Given the description of an element on the screen output the (x, y) to click on. 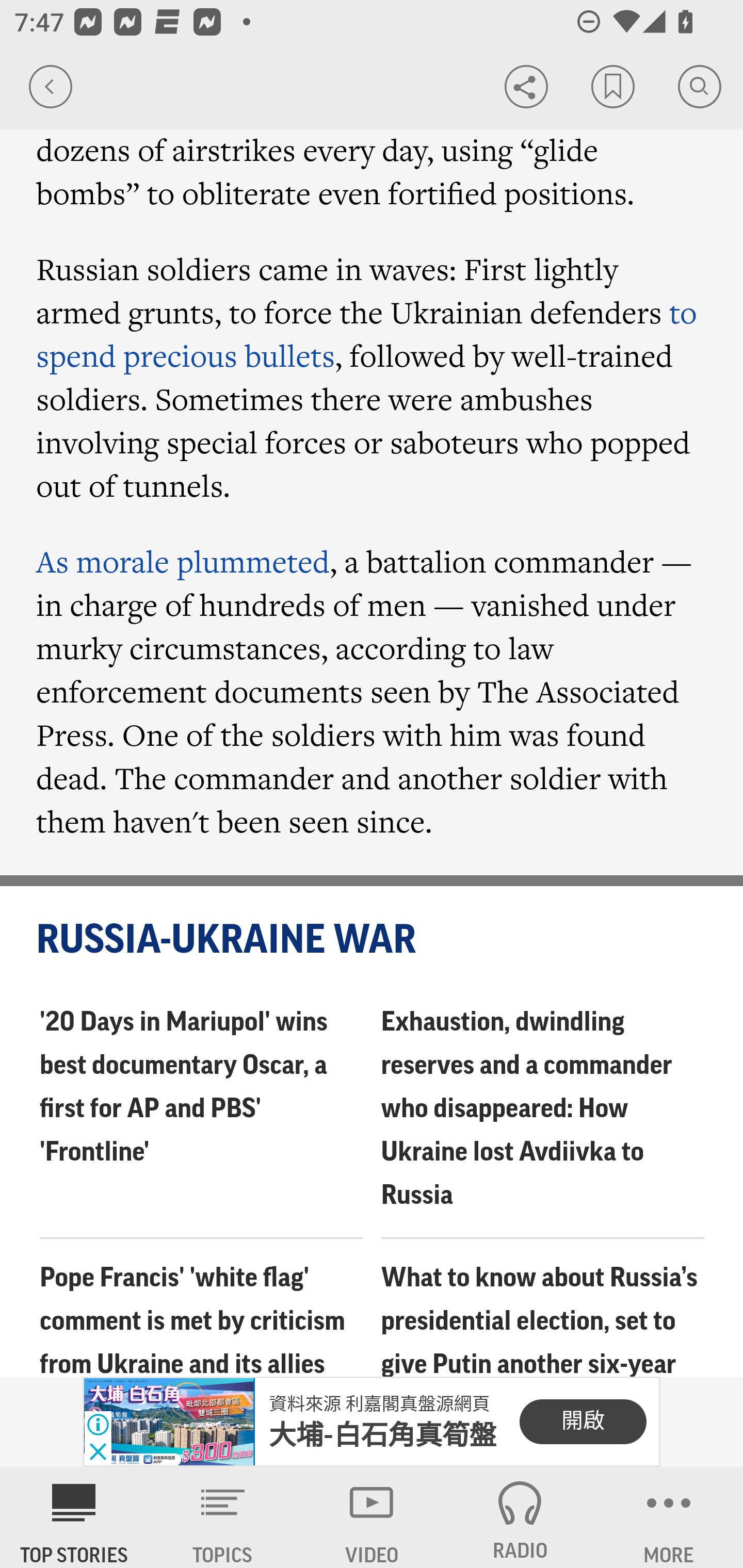
to spend precious bullets (367, 334)
As morale plummeted (182, 561)
RUSSIA-UKRAINE WAR (372, 940)
B30001746 (168, 1421)
資料來源 利嘉閣真盤源網頁 (379, 1403)
開啟 (582, 1421)
大埔-白石角真筍盤 (382, 1434)
AP News TOP STORIES (74, 1517)
TOPICS (222, 1517)
VIDEO (371, 1517)
RADIO (519, 1517)
MORE (668, 1517)
